Given the description of an element on the screen output the (x, y) to click on. 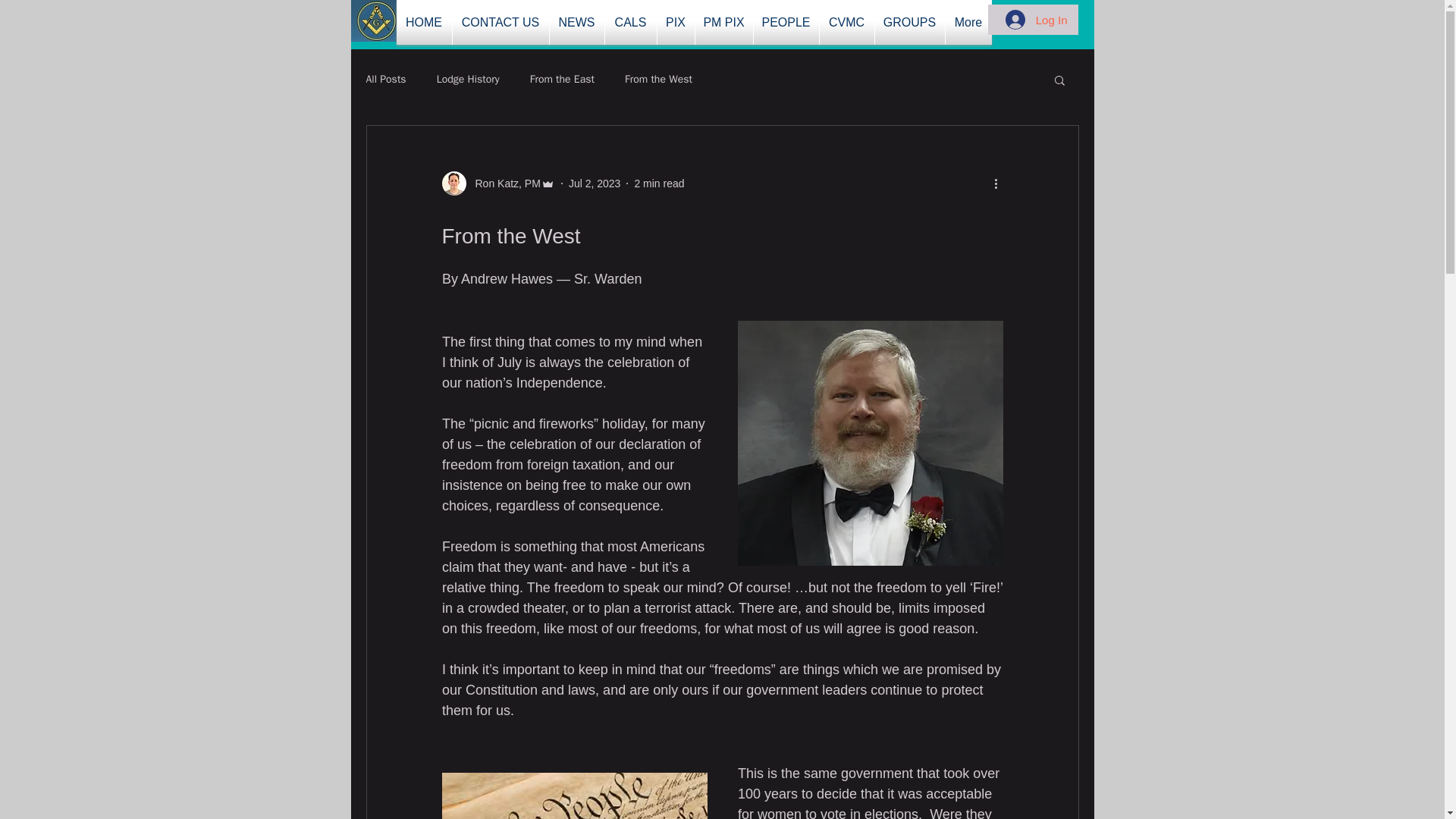
CALS (630, 22)
2 min read (658, 183)
CONTACT US (499, 22)
CVMC (845, 22)
sandcbluegold.jpeg (375, 20)
PEOPLE (786, 22)
Ron Katz, PM (502, 183)
Jul 2, 2023 (595, 183)
GROUPS (909, 22)
HOME (423, 22)
